Given the description of an element on the screen output the (x, y) to click on. 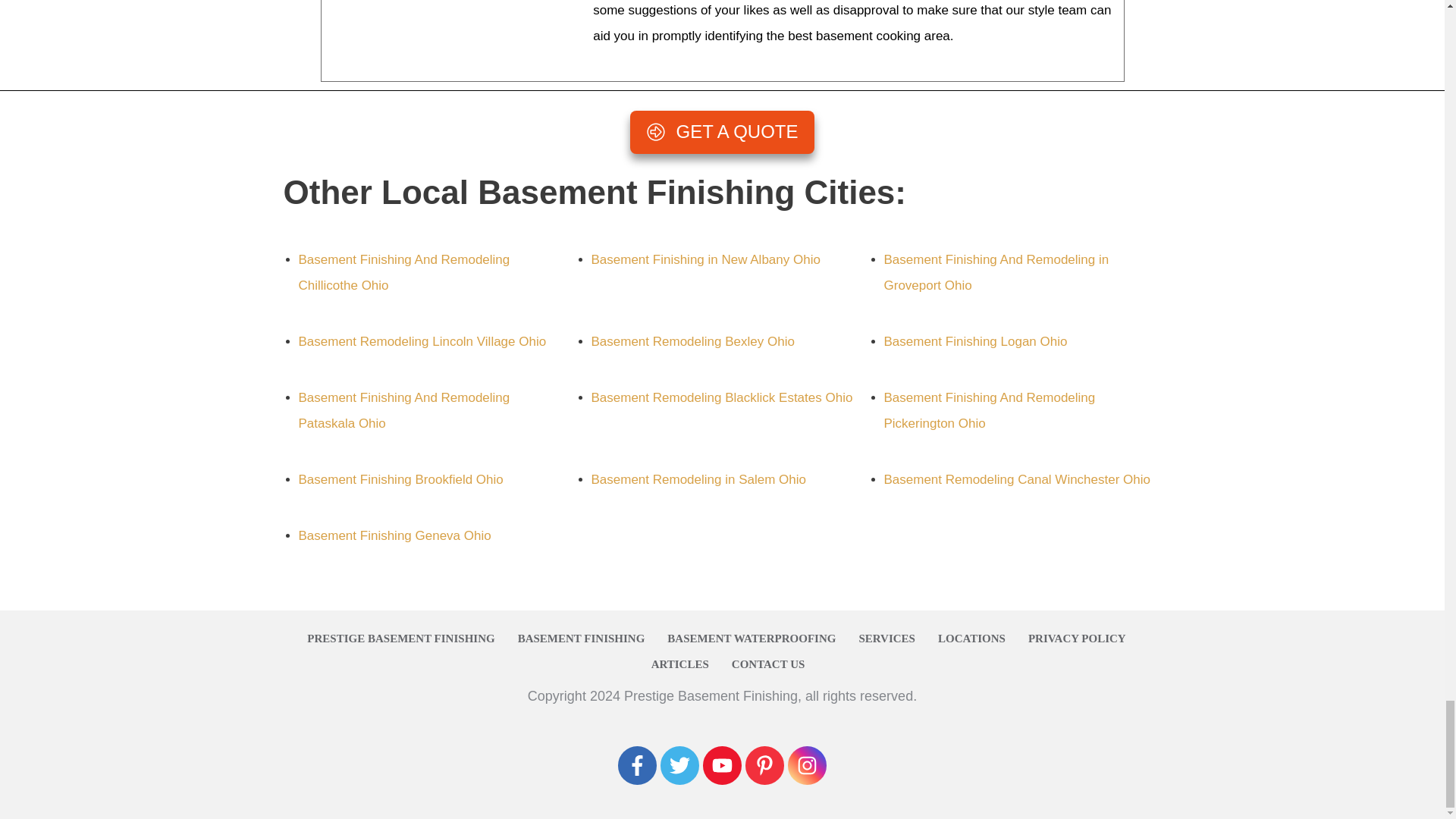
Basement Remodeling  Blacklick Estates Ohio (722, 397)
PRIVACY POLICY (1076, 638)
LOCATIONS (971, 638)
Basement Finishing  Geneva Ohio (395, 535)
Basement Finishing And Remodeling Pickerington Ohio (989, 410)
Basement Finishing And Remodeling  Pataskala Ohio (404, 410)
Basement Finishing And Remodeling in Groveport Ohio (996, 272)
Basement Remodeling Bexley Ohio (692, 341)
Basement Remodeling Blacklick Estates Ohio (722, 397)
Basement Finishing Brookfield Ohio (400, 479)
